Given the description of an element on the screen output the (x, y) to click on. 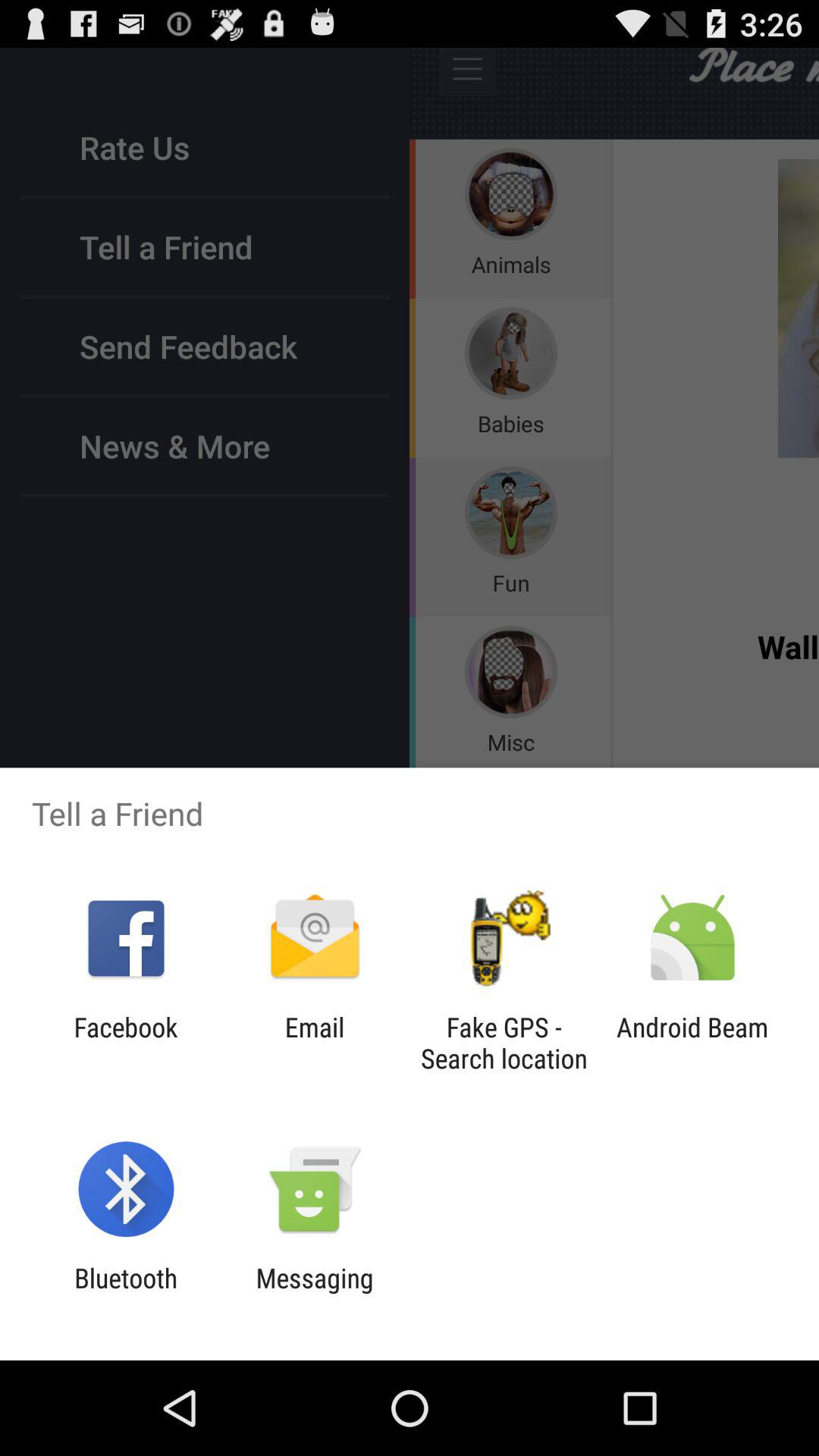
open email icon (314, 1042)
